Given the description of an element on the screen output the (x, y) to click on. 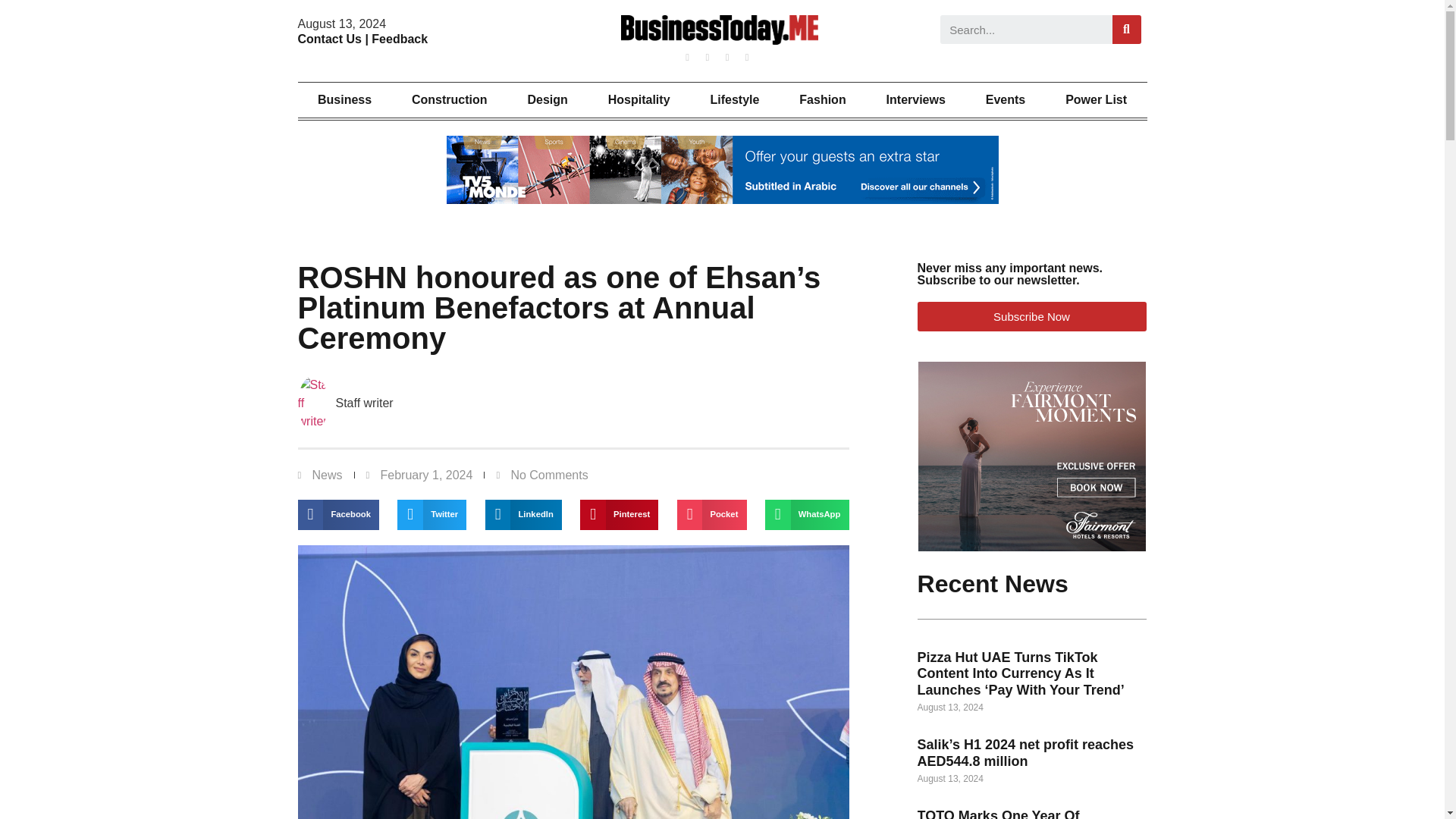
Search (1026, 29)
Feedback (399, 38)
Contact Us (329, 38)
Search (1126, 29)
